Given the description of an element on the screen output the (x, y) to click on. 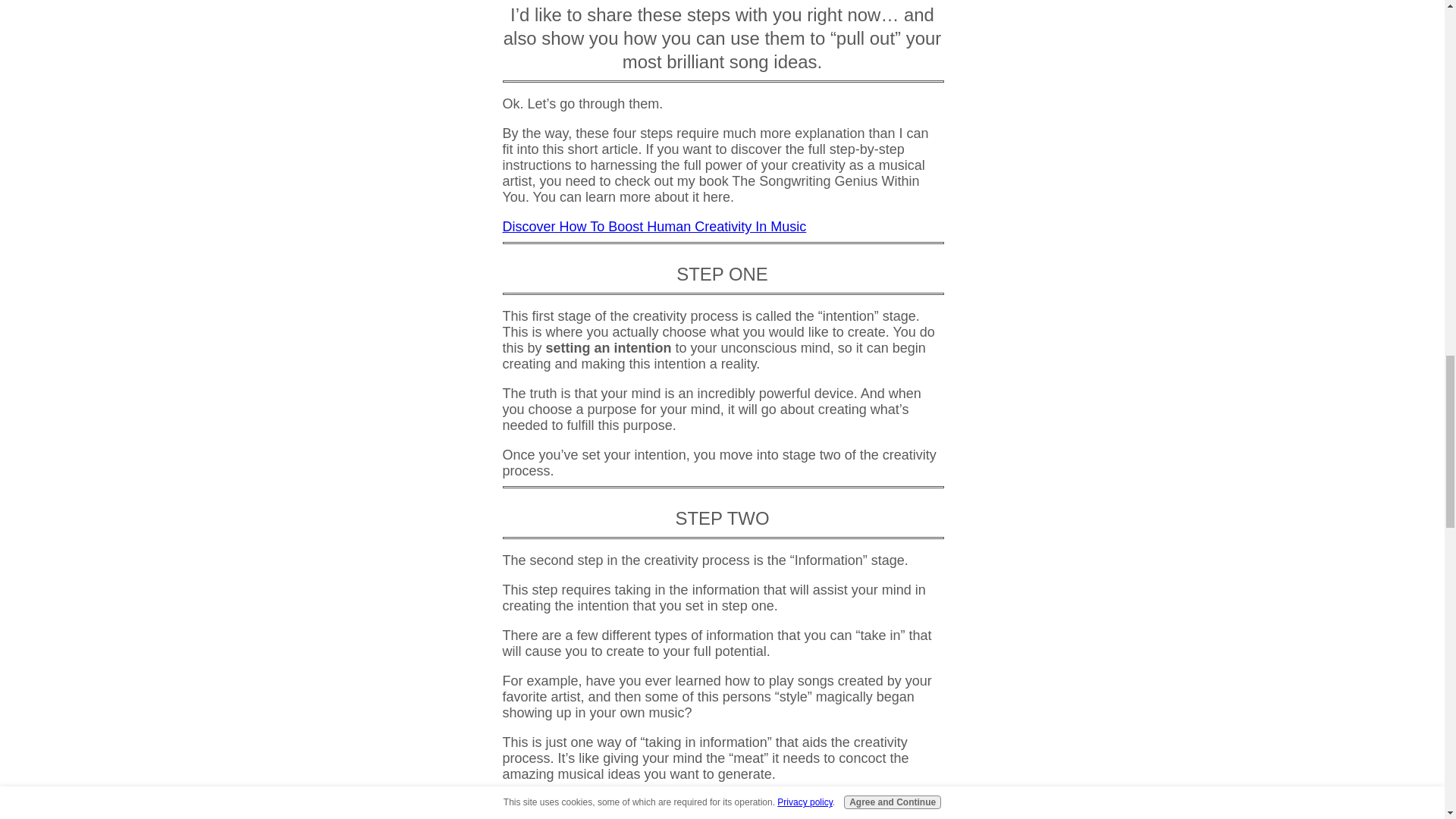
Discover How To Boost Human Creativity In Music (654, 226)
